Given the description of an element on the screen output the (x, y) to click on. 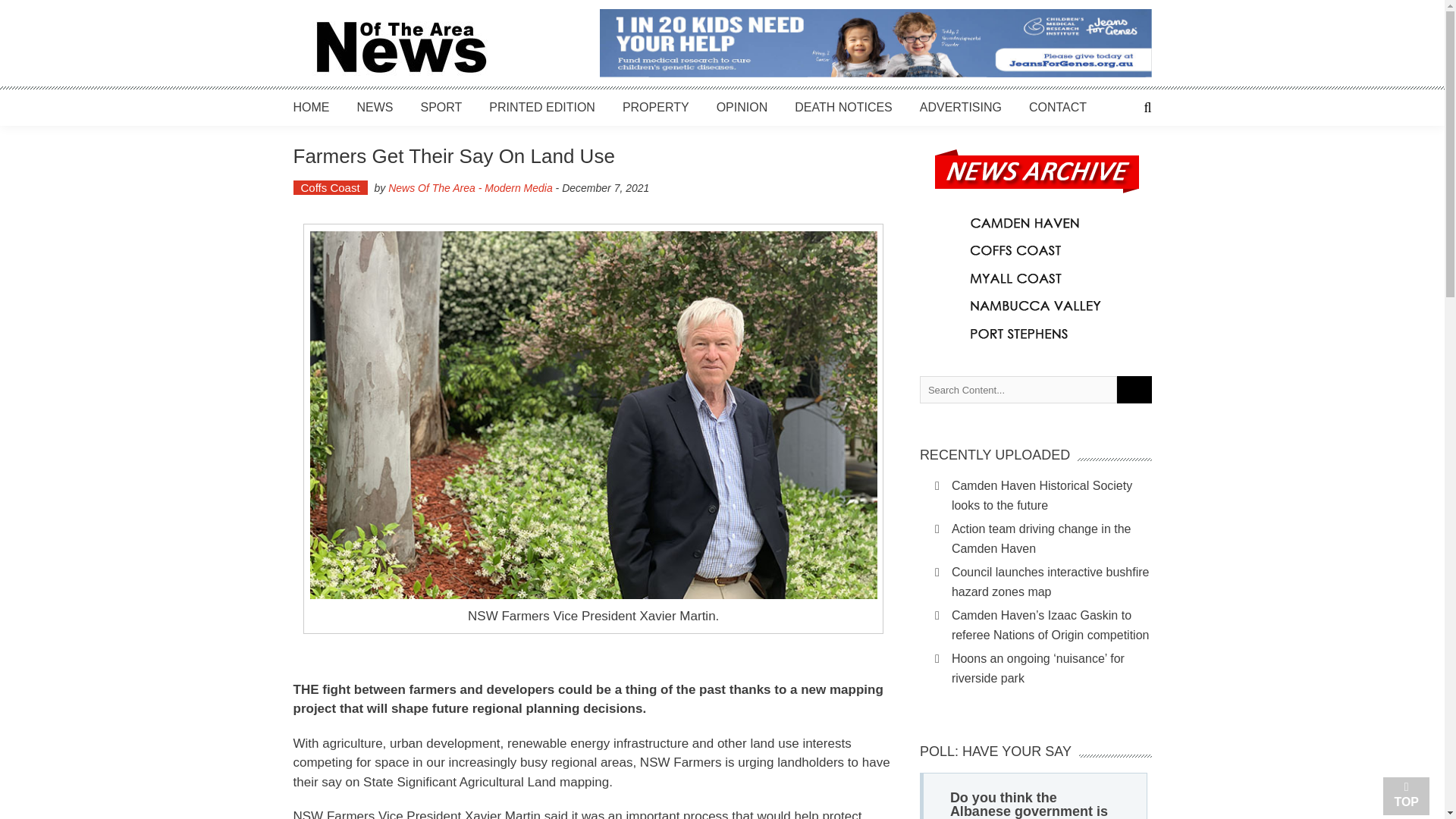
SPORT (440, 106)
HOME (310, 106)
PRINTED EDITION (542, 106)
NEWS (374, 106)
Search for: (1018, 389)
Skip to content (37, 8)
PROPERTY (655, 106)
